Given the description of an element on the screen output the (x, y) to click on. 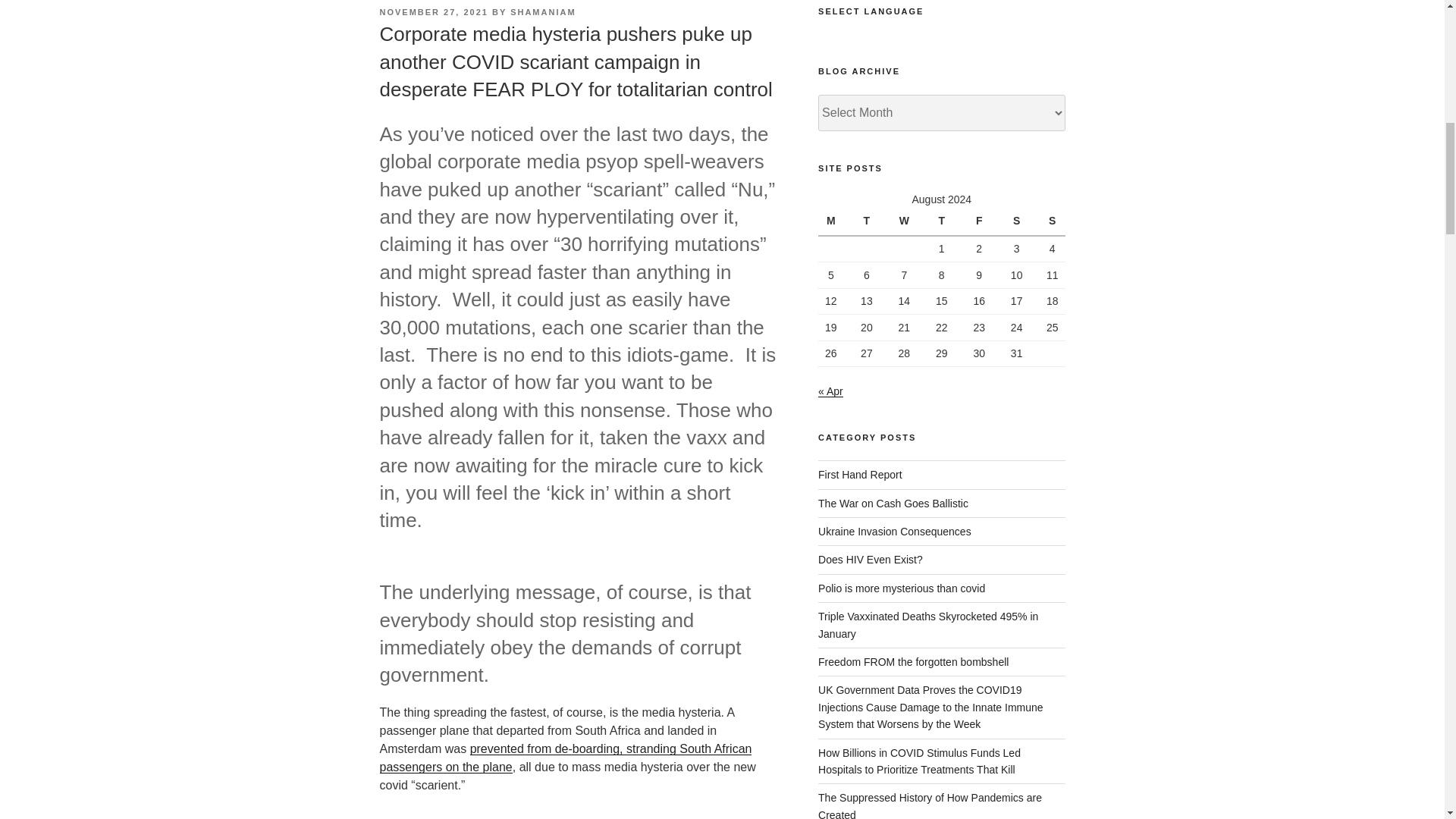
SHAMANIAM (543, 11)
Tuesday (866, 221)
Wednesday (904, 221)
Polio is more mysterious than covid (901, 588)
Monday (832, 221)
Saturday (1016, 221)
Ukraine Invasion Consequences (894, 531)
Sunday (1049, 221)
NOVEMBER 27, 2021 (432, 11)
Does HIV Even Exist? (870, 559)
Freedom FROM the forgotten bombshell (913, 662)
The Suppressed History of How Pandemics are Created (930, 805)
